Given the description of an element on the screen output the (x, y) to click on. 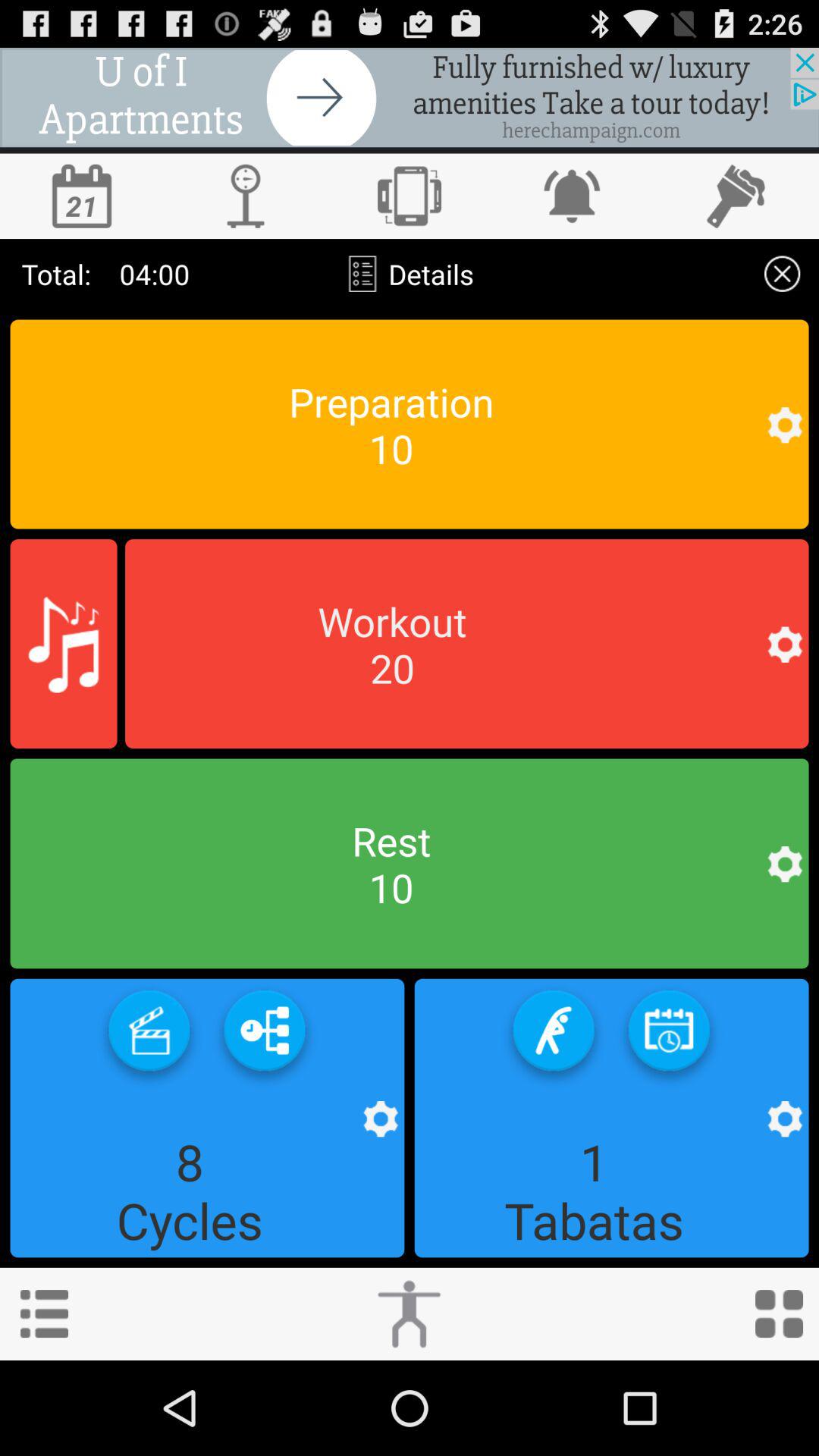
gym workout icone (466, 643)
